Given the description of an element on the screen output the (x, y) to click on. 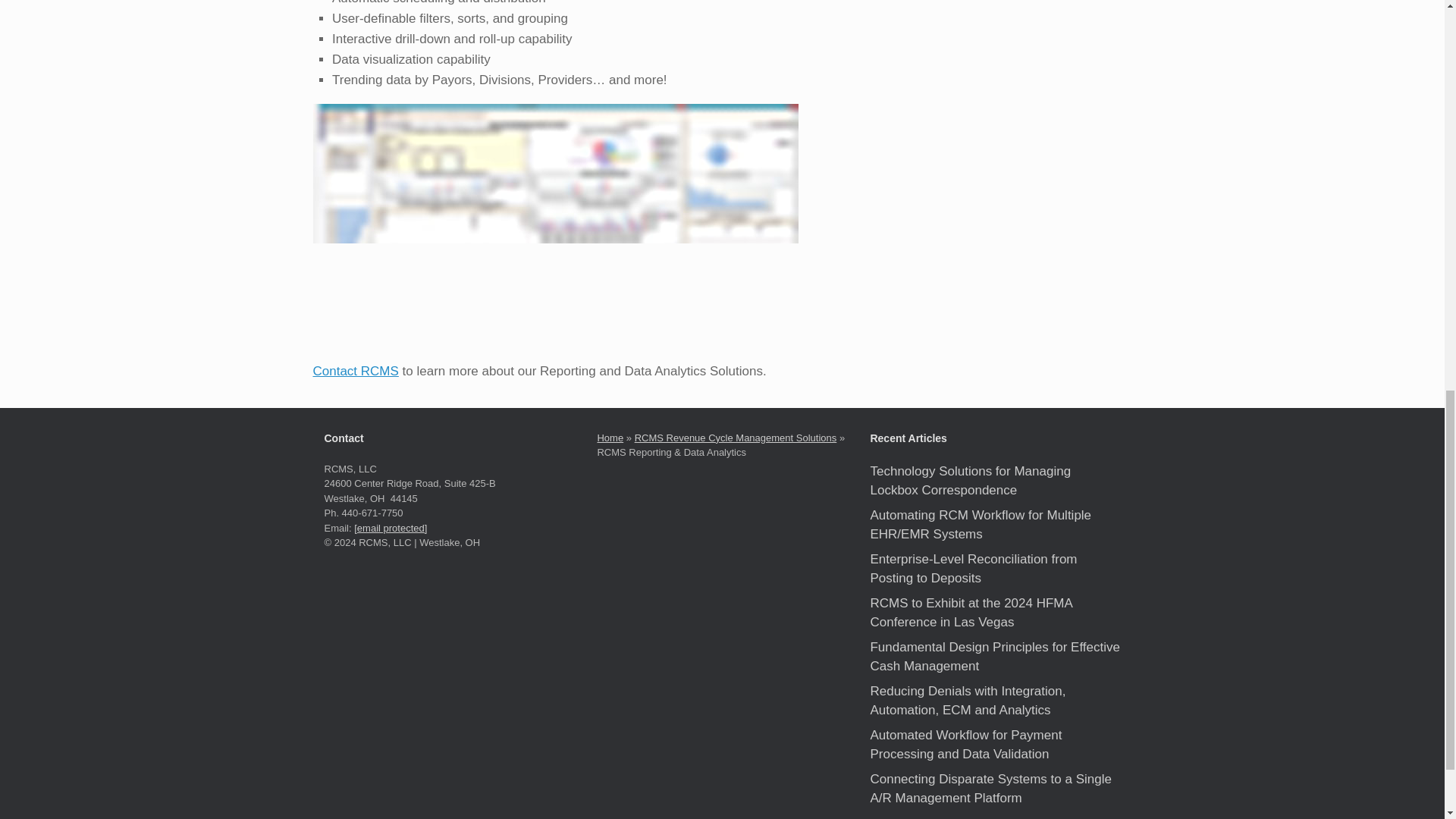
Home (609, 437)
Technology Solutions for Managing Lockbox Correspondence (969, 480)
Contact RCMS (355, 370)
RCMS Revenue Cycle Management Solutions (735, 437)
RCMS Revenue Cycle Management Solutions (735, 437)
Home (609, 437)
